Given the description of an element on the screen output the (x, y) to click on. 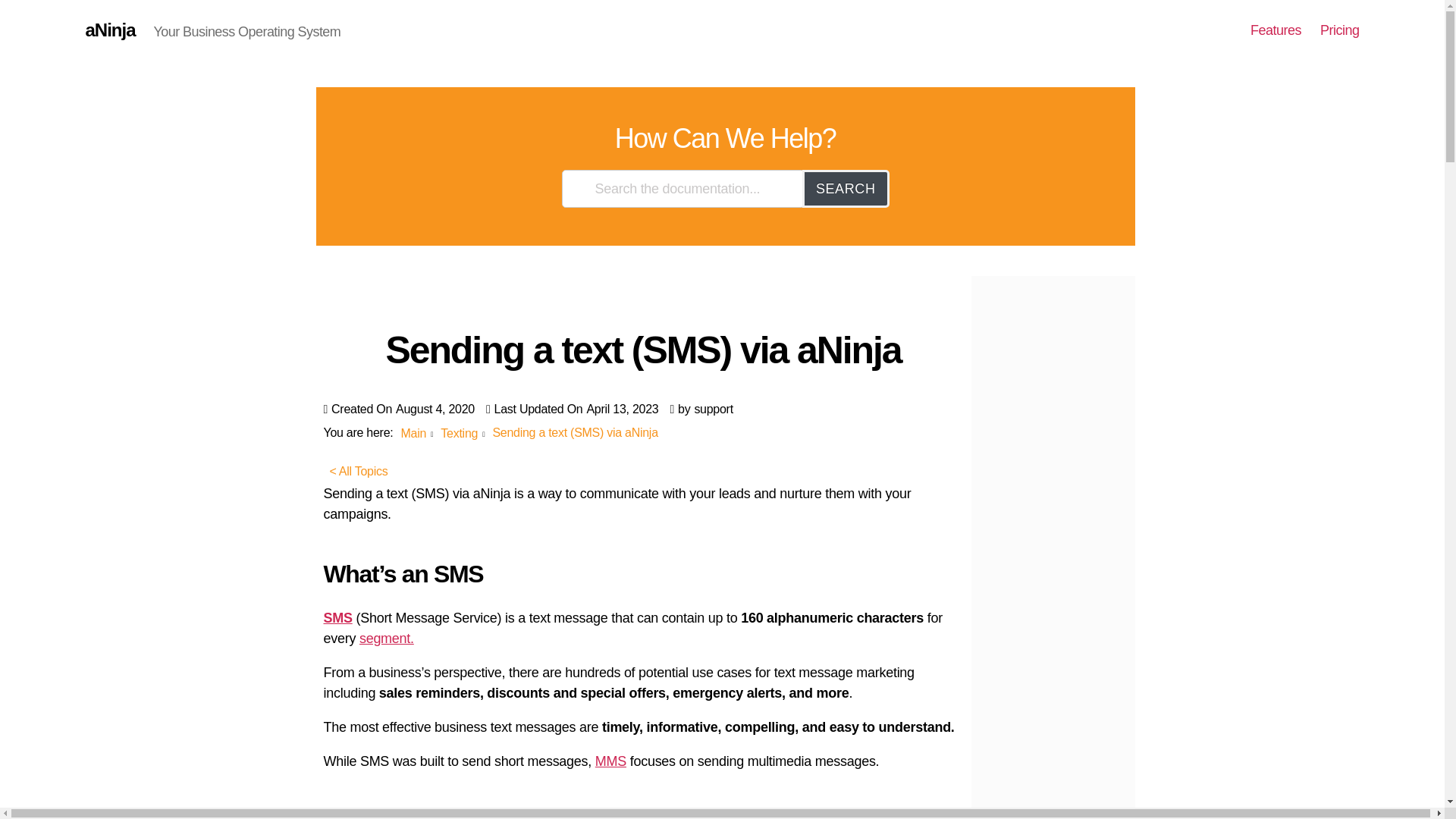
Features (1275, 30)
Main (413, 432)
SEARCH (845, 188)
SMS (337, 617)
aNinja (109, 30)
segment. (386, 638)
Pricing (1339, 30)
Texting (459, 432)
MMS (610, 761)
